Given the description of an element on the screen output the (x, y) to click on. 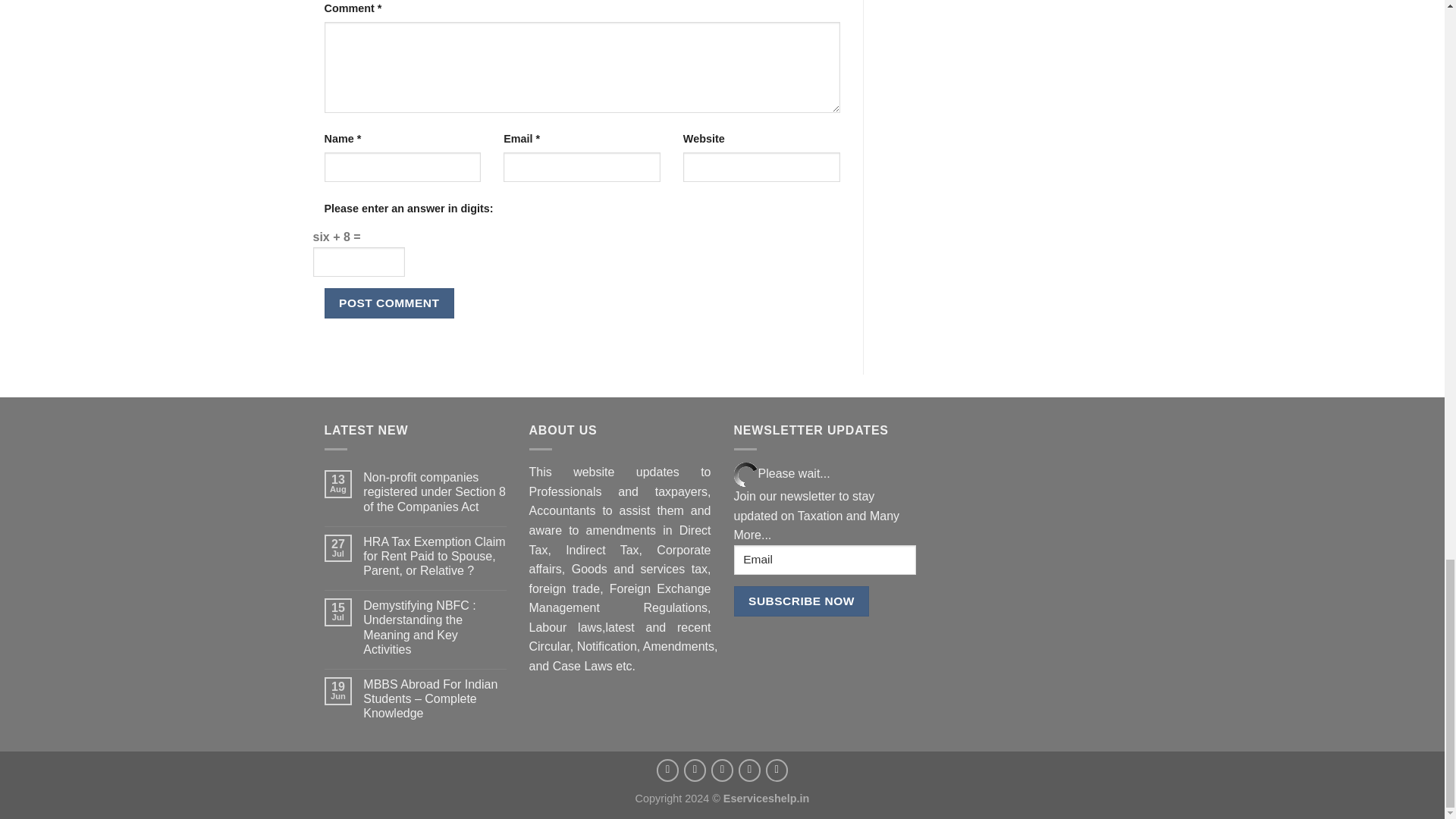
Email (824, 559)
Post Comment (389, 302)
Subscribe Now (801, 600)
